Given the description of an element on the screen output the (x, y) to click on. 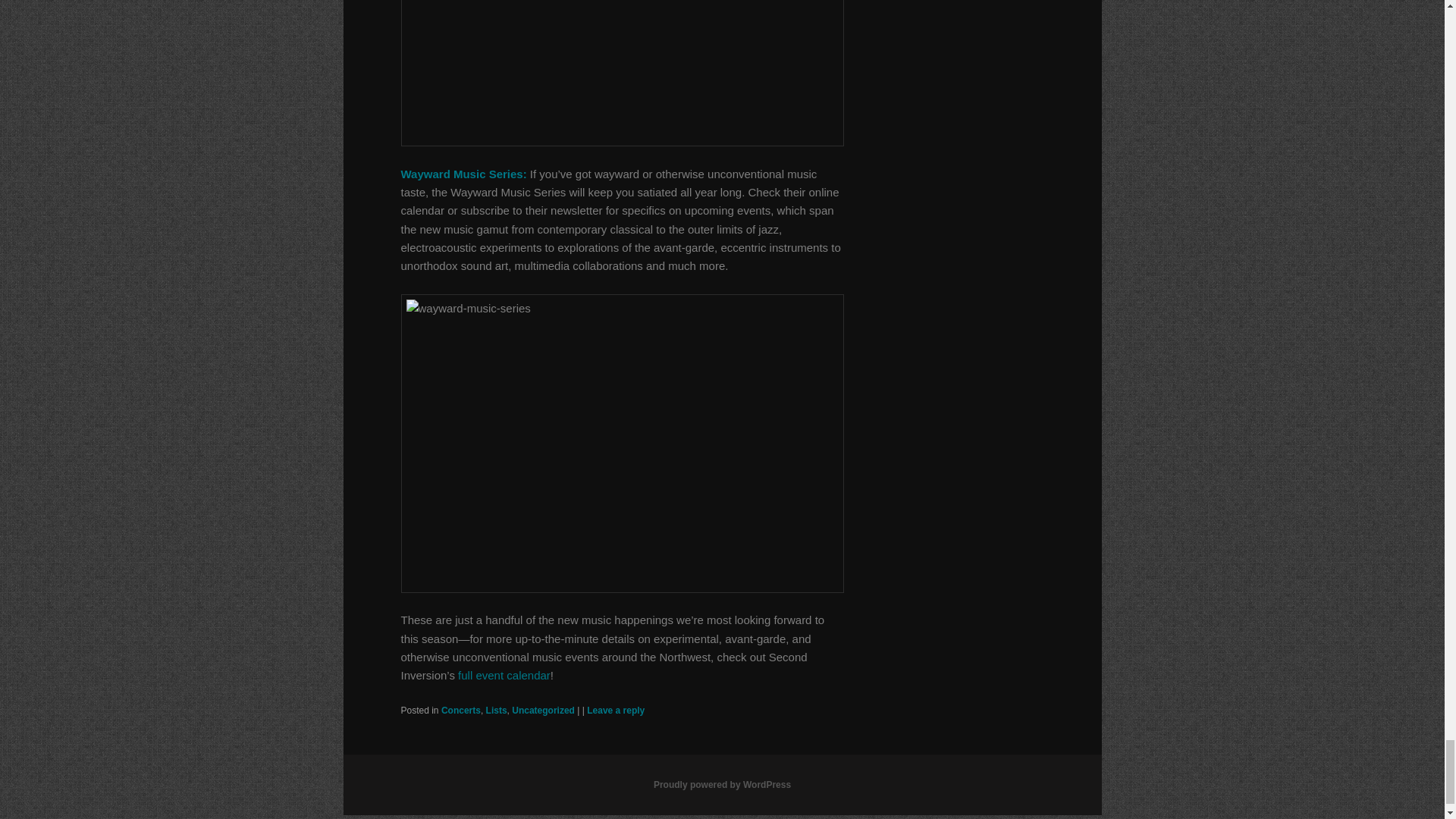
Semantic Personal Publishing Platform (721, 784)
